Given the description of an element on the screen output the (x, y) to click on. 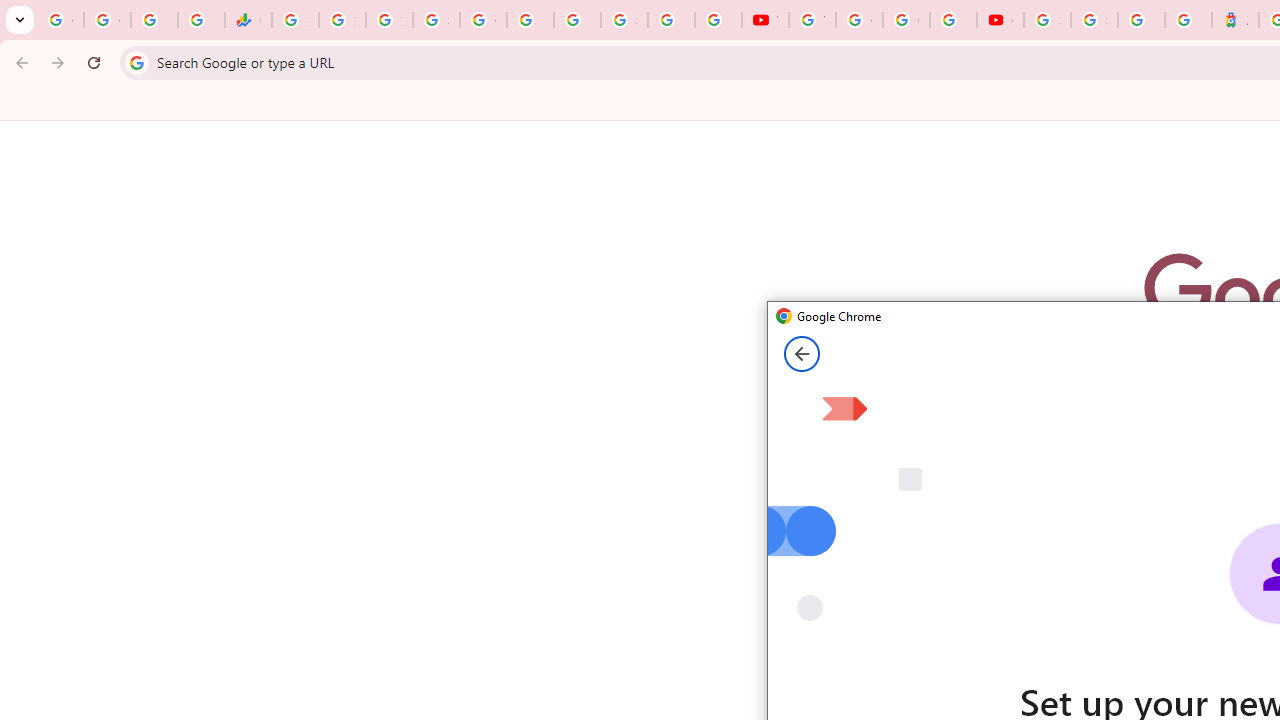
Content Creator Programs & Opportunities - YouTube Creators (999, 20)
